Given the description of an element on the screen output the (x, y) to click on. 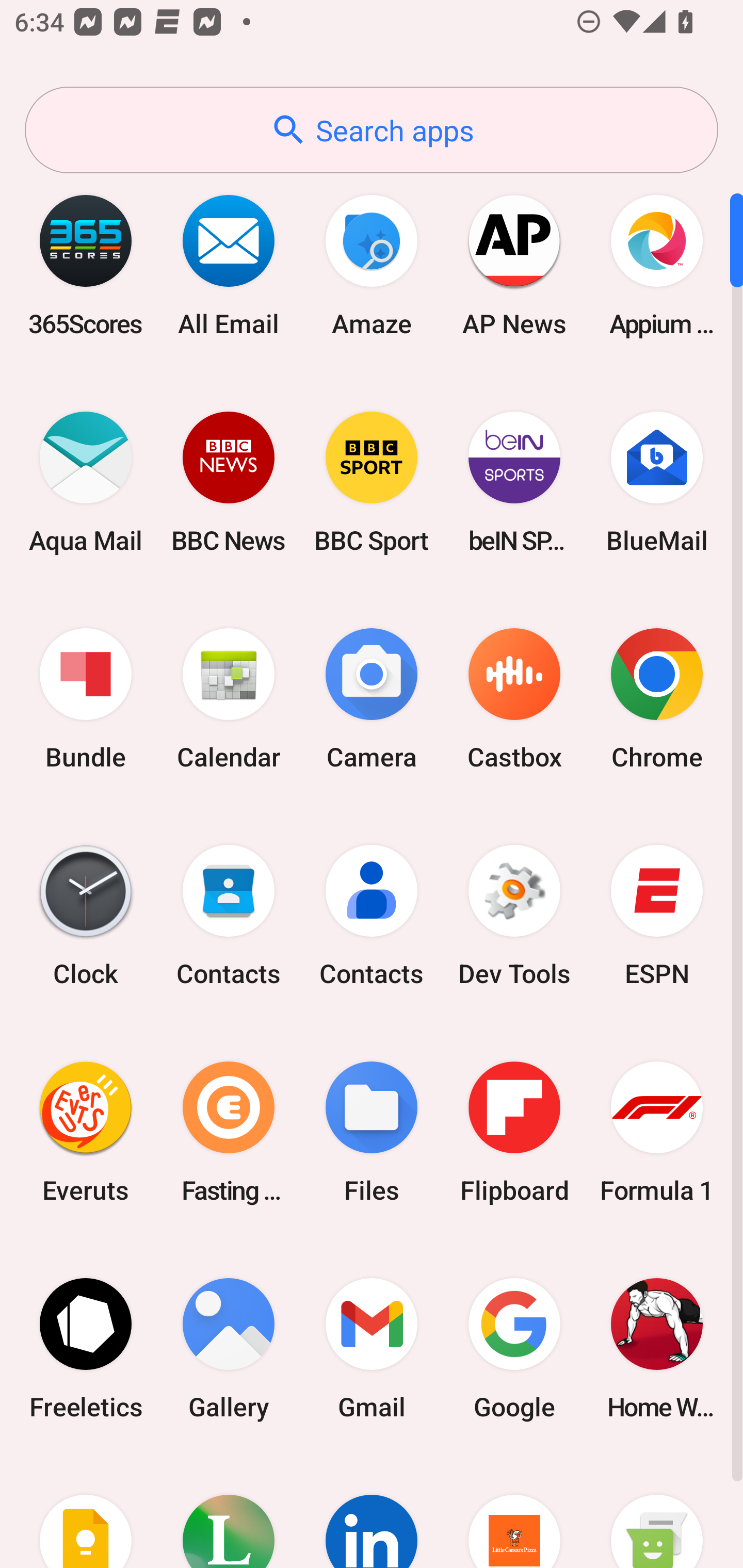
  Search apps (371, 130)
365Scores (85, 264)
All Email (228, 264)
Amaze (371, 264)
AP News (514, 264)
Appium Settings (656, 264)
Aqua Mail (85, 482)
BBC News (228, 482)
BBC Sport (371, 482)
beIN SPORTS (514, 482)
BlueMail (656, 482)
Bundle (85, 699)
Calendar (228, 699)
Camera (371, 699)
Castbox (514, 699)
Chrome (656, 699)
Clock (85, 915)
Contacts (228, 915)
Contacts (371, 915)
Dev Tools (514, 915)
ESPN (656, 915)
Everuts (85, 1131)
Fasting Coach (228, 1131)
Files (371, 1131)
Flipboard (514, 1131)
Formula 1 (656, 1131)
Freeletics (85, 1348)
Gallery (228, 1348)
Gmail (371, 1348)
Google (514, 1348)
Home Workout (656, 1348)
